Given the description of an element on the screen output the (x, y) to click on. 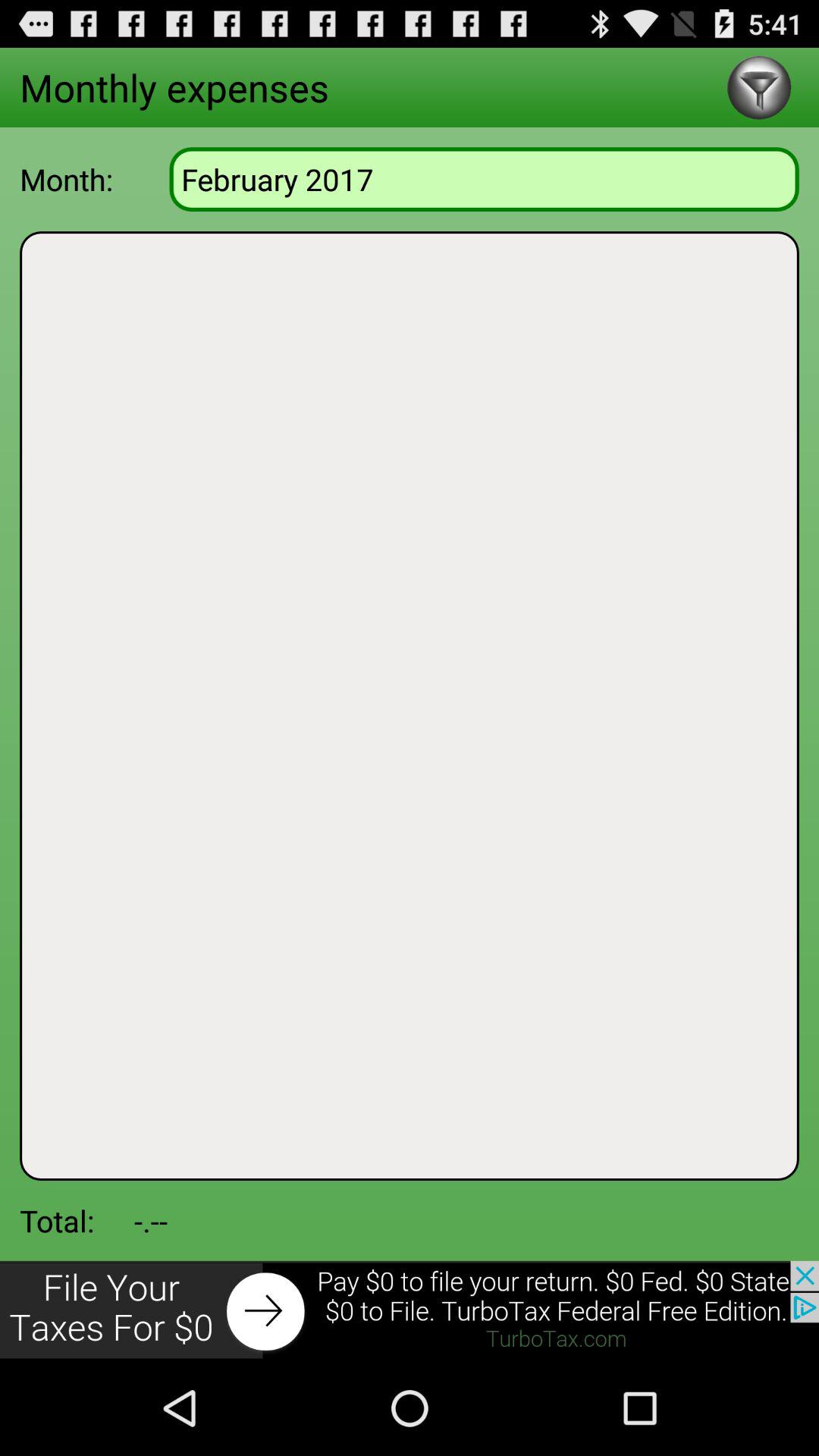
advertisement (409, 1310)
